Given the description of an element on the screen output the (x, y) to click on. 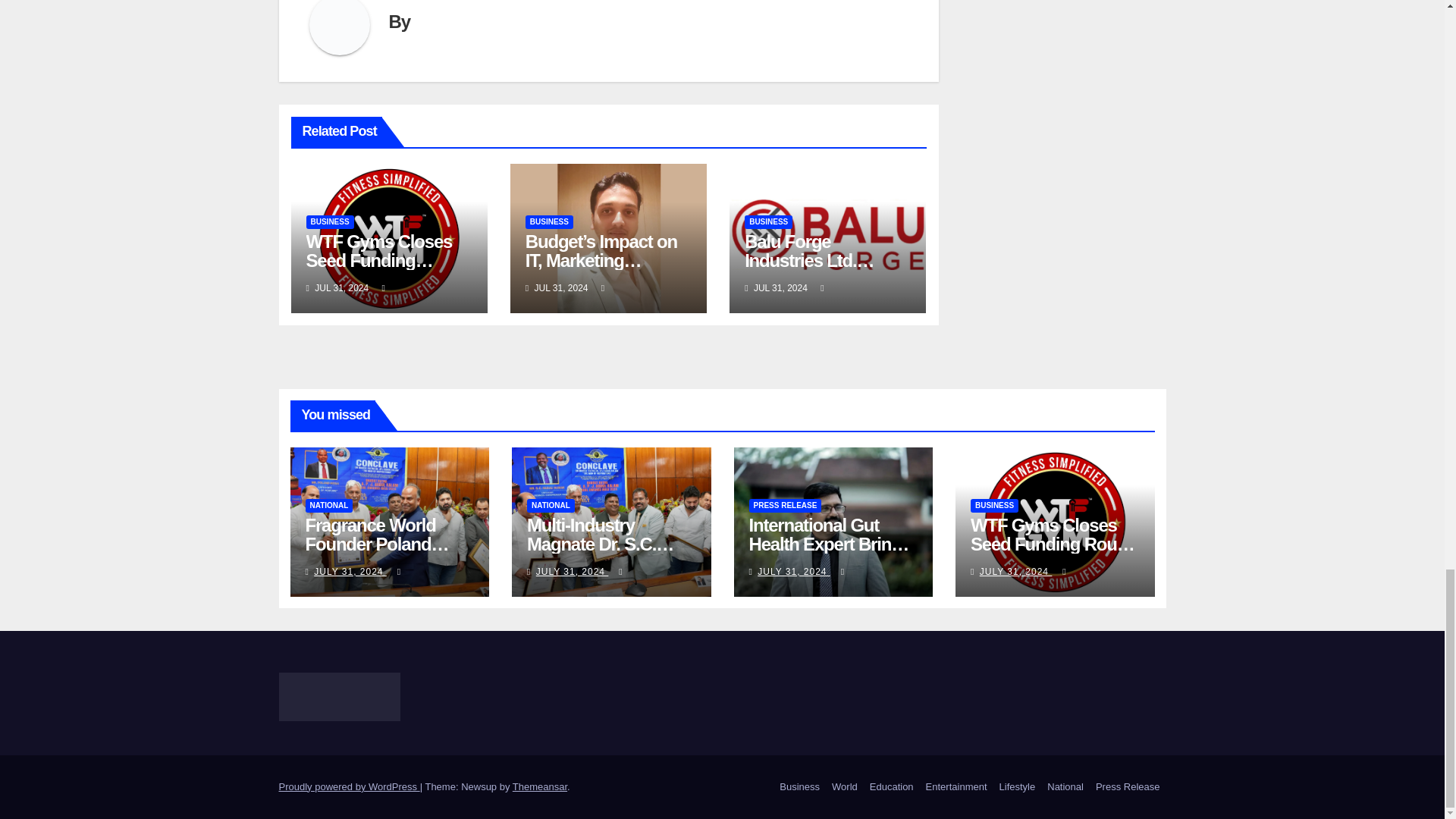
BUSINESS (549, 222)
BUSINESS (329, 222)
